Given the description of an element on the screen output the (x, y) to click on. 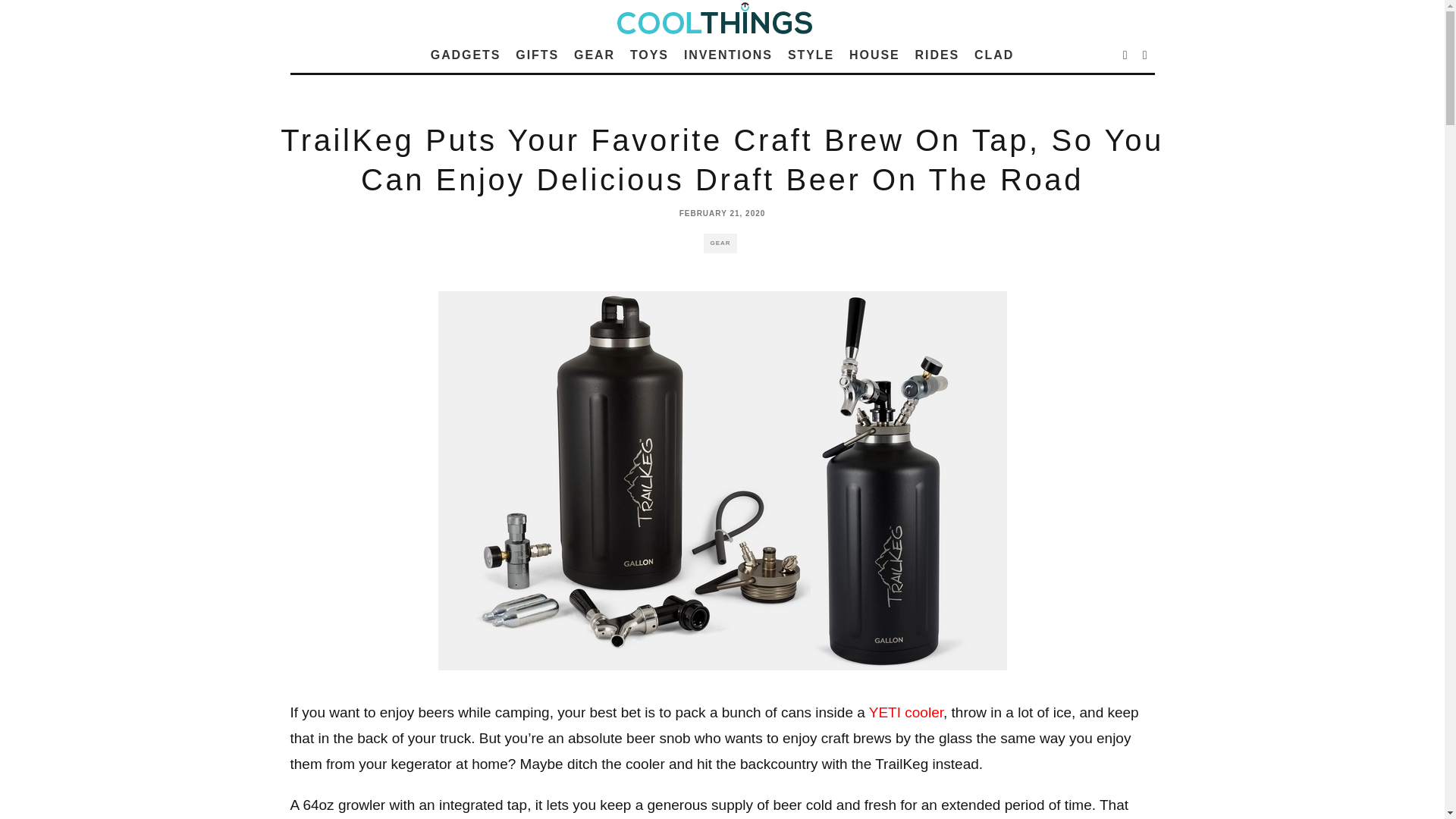
STYLE (810, 54)
GIFTS (537, 54)
INVENTIONS (728, 54)
GADGETS (465, 54)
TOYS (650, 54)
GEAR (594, 54)
